Given the description of an element on the screen output the (x, y) to click on. 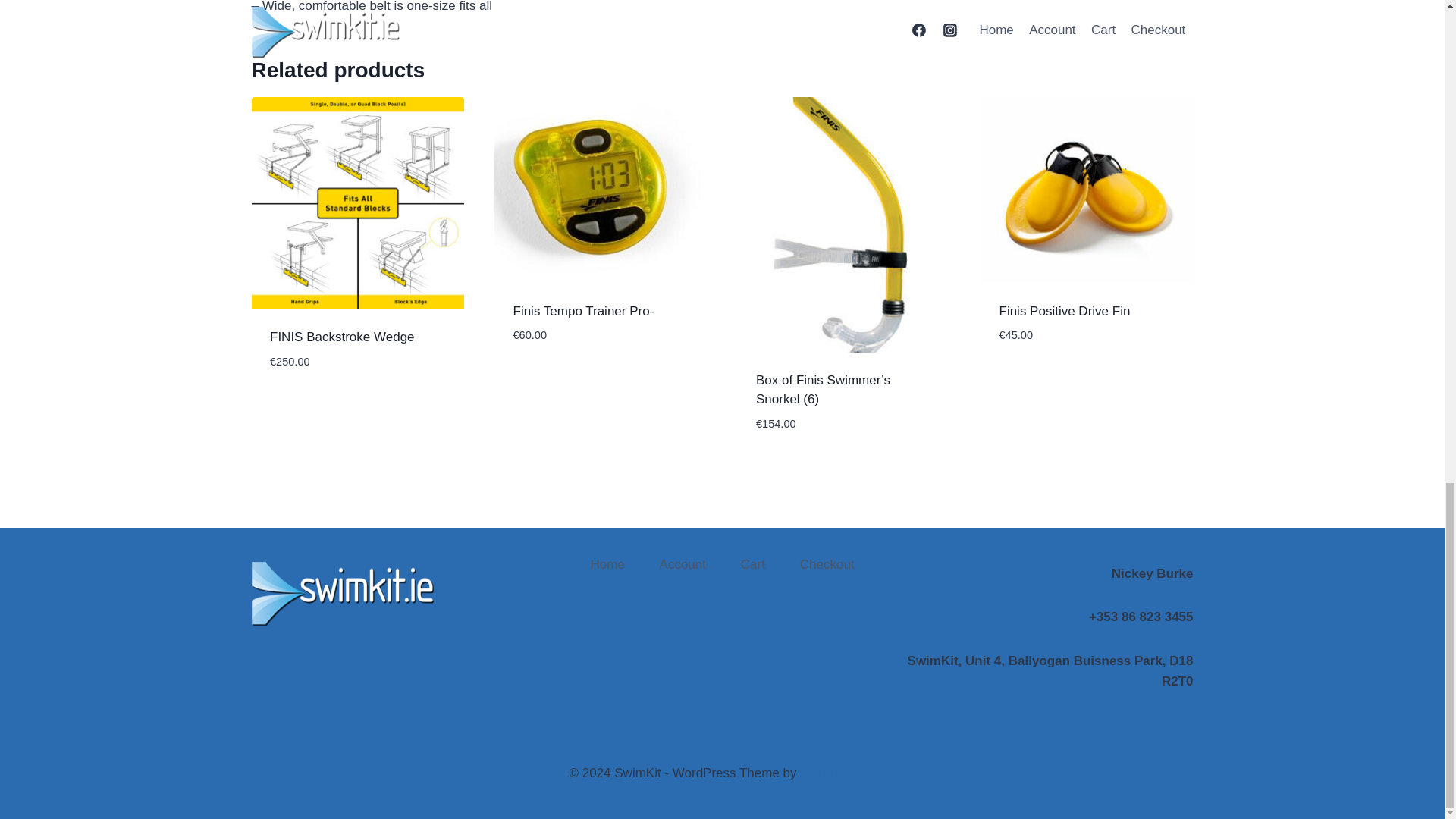
FINIS Backstroke Wedge (341, 336)
Finis Positive Drive Fin (1064, 310)
Kadence WP (837, 772)
Account (681, 564)
Cart (753, 564)
Finis Tempo Trainer Pro- (582, 310)
Checkout (826, 564)
Home (606, 564)
